Given the description of an element on the screen output the (x, y) to click on. 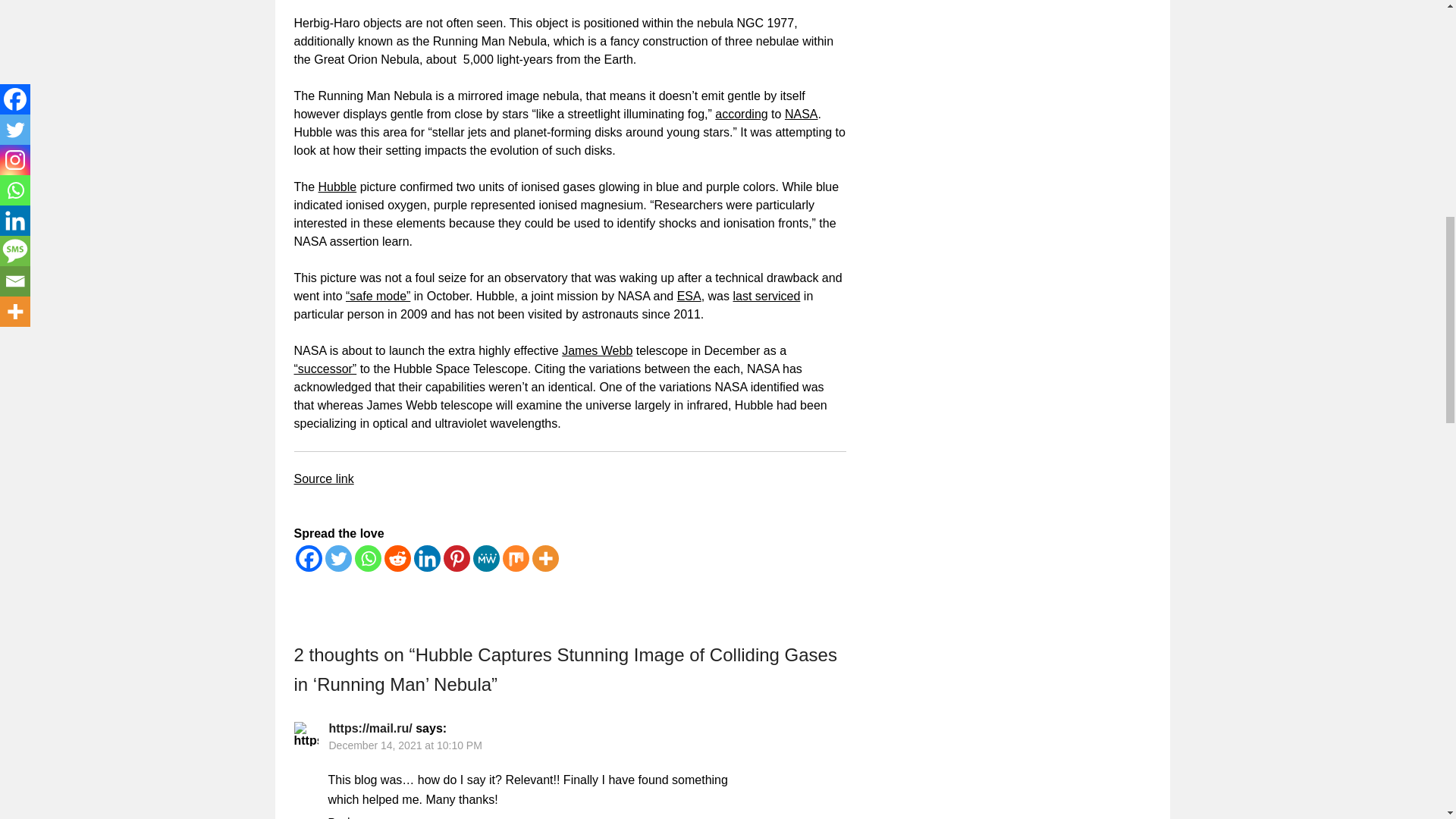
NASA (801, 113)
Source link (323, 478)
Hubble (337, 186)
James Webb (596, 350)
Twitter (337, 558)
ESA (689, 295)
last serviced (765, 295)
Facebook (308, 558)
according (740, 113)
